Given the description of an element on the screen output the (x, y) to click on. 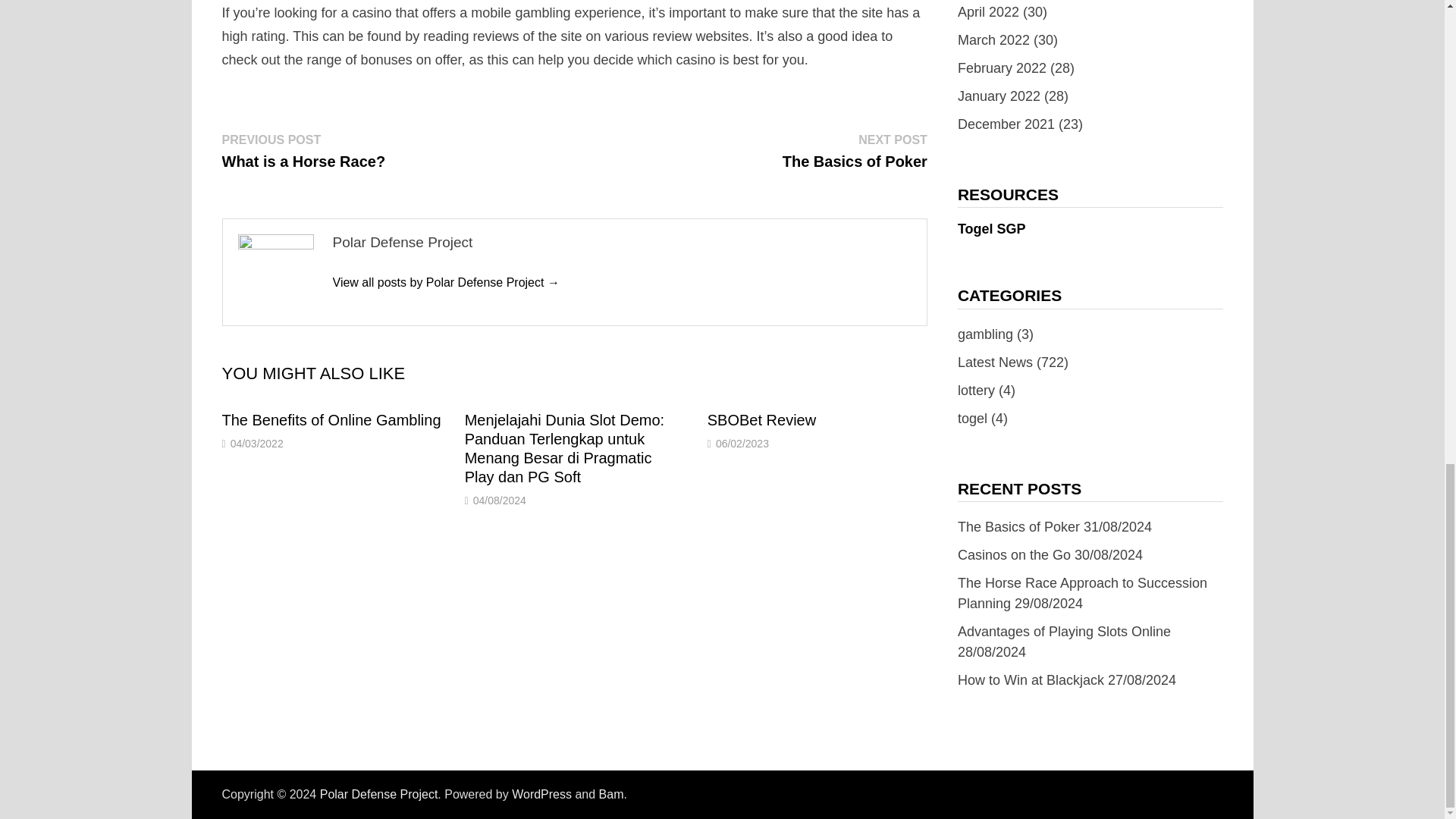
SBOBet Review (761, 419)
SBOBet Review (761, 419)
The Benefits of Online Gambling (331, 419)
Polar Defense Project (379, 793)
Polar Defense Project (445, 282)
The Benefits of Online Gambling (331, 419)
